Given the description of an element on the screen output the (x, y) to click on. 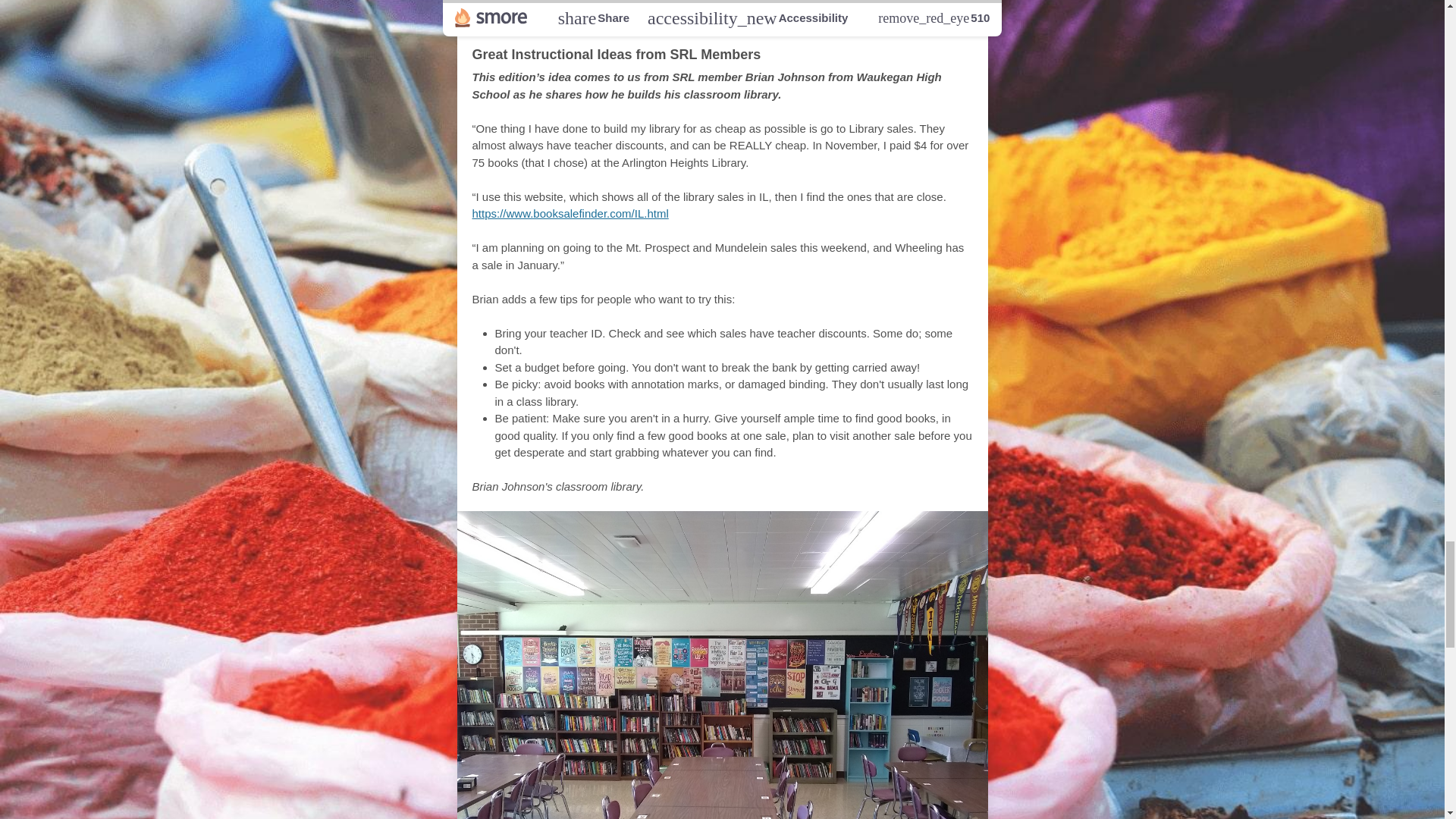
SRL New Members and Renewals .pdf (812, 1)
